Given the description of an element on the screen output the (x, y) to click on. 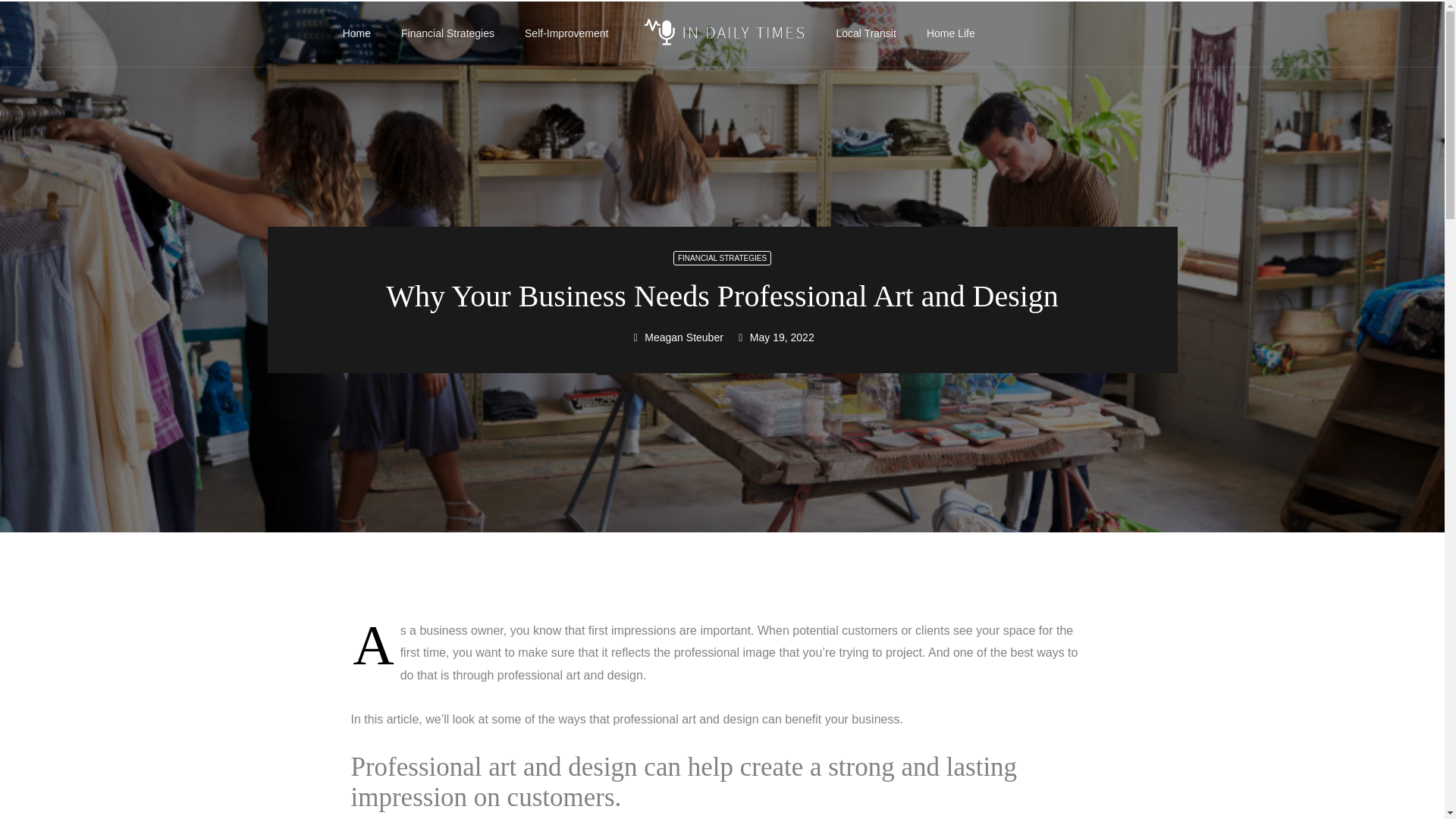
Home Life (950, 33)
Self-Improvement (566, 33)
Financial Strategies (447, 33)
Home (356, 33)
Meagan Steuber (676, 337)
FINANCIAL STRATEGIES (721, 257)
May 19, 2022 (774, 337)
Local Transit (866, 33)
